Given the description of an element on the screen output the (x, y) to click on. 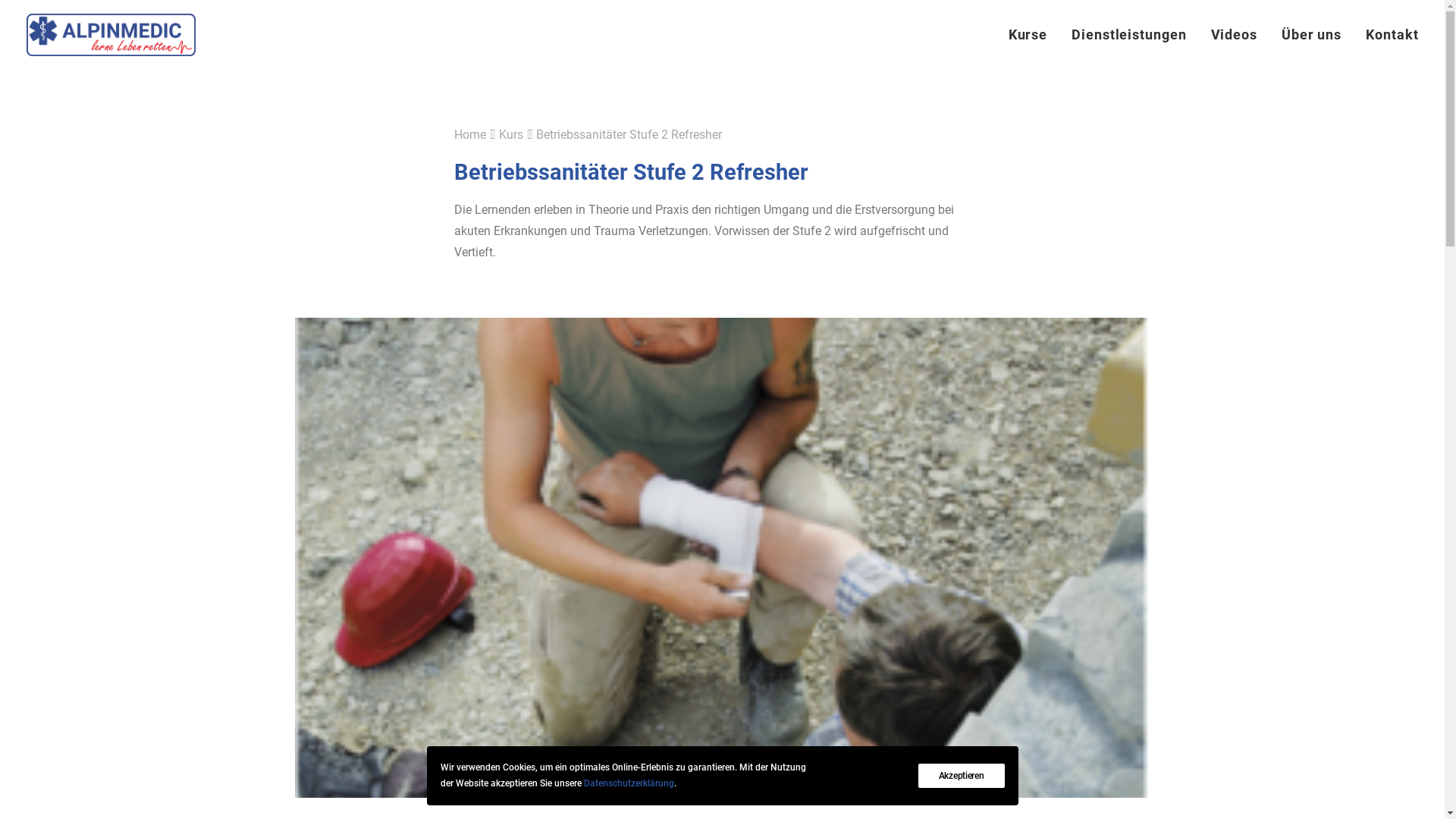
Kurs Element type: text (510, 134)
Kurse Element type: text (1033, 34)
Dienstleistungen Element type: text (1128, 34)
Videos Element type: text (1233, 34)
Akzeptieren Element type: text (961, 775)
Kontakt Element type: text (1386, 34)
Home Element type: text (469, 134)
